Given the description of an element on the screen output the (x, y) to click on. 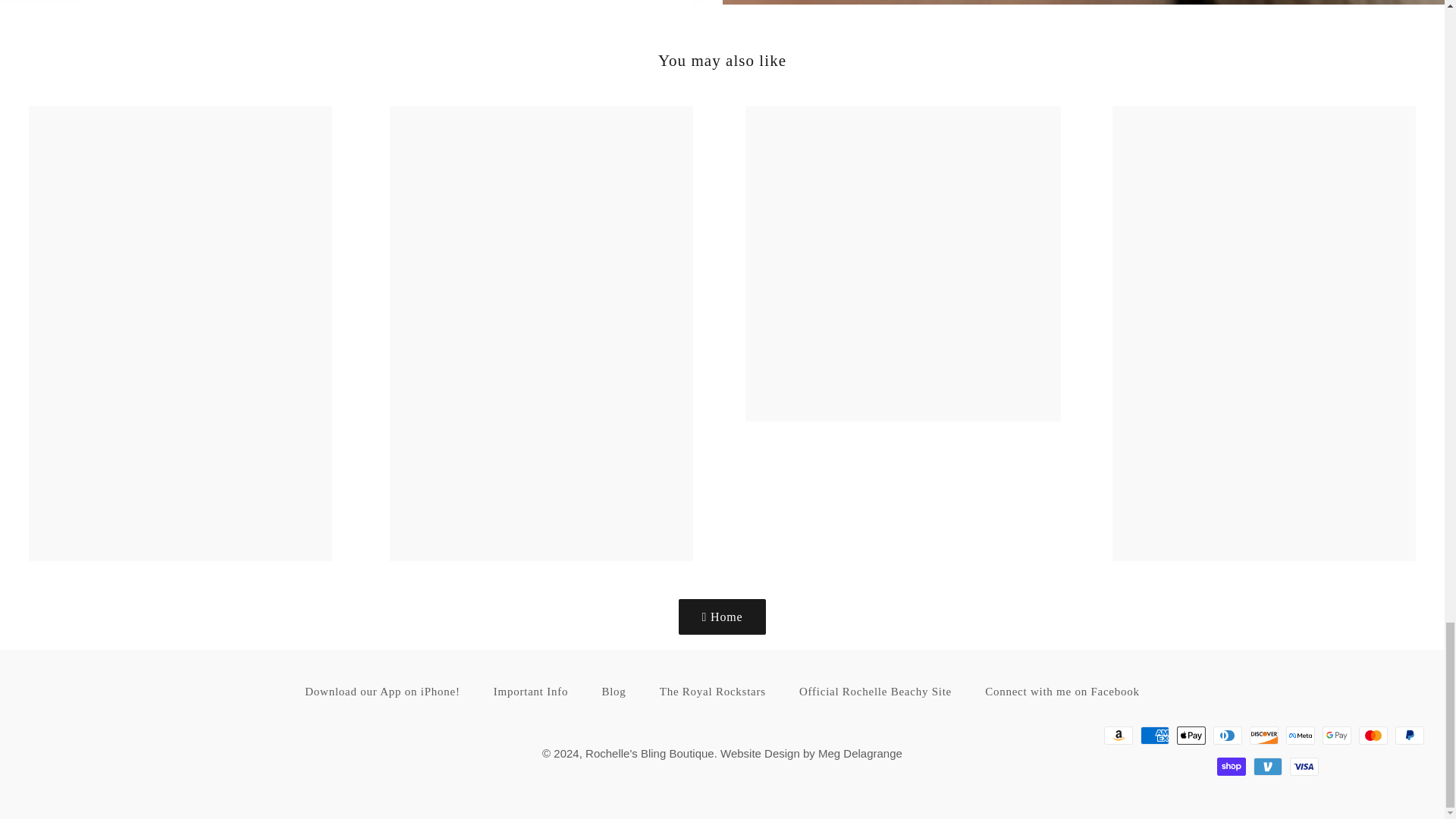
Apple Pay (1190, 735)
Google Pay (1336, 735)
Shop Pay (1231, 766)
Venmo (1267, 766)
Meta Pay (1299, 735)
Diners Club (1226, 735)
American Express (1154, 735)
PayPal (1408, 735)
Discover (1263, 735)
Mastercard (1372, 735)
Amazon (1117, 735)
Visa (1304, 766)
